Given the description of an element on the screen output the (x, y) to click on. 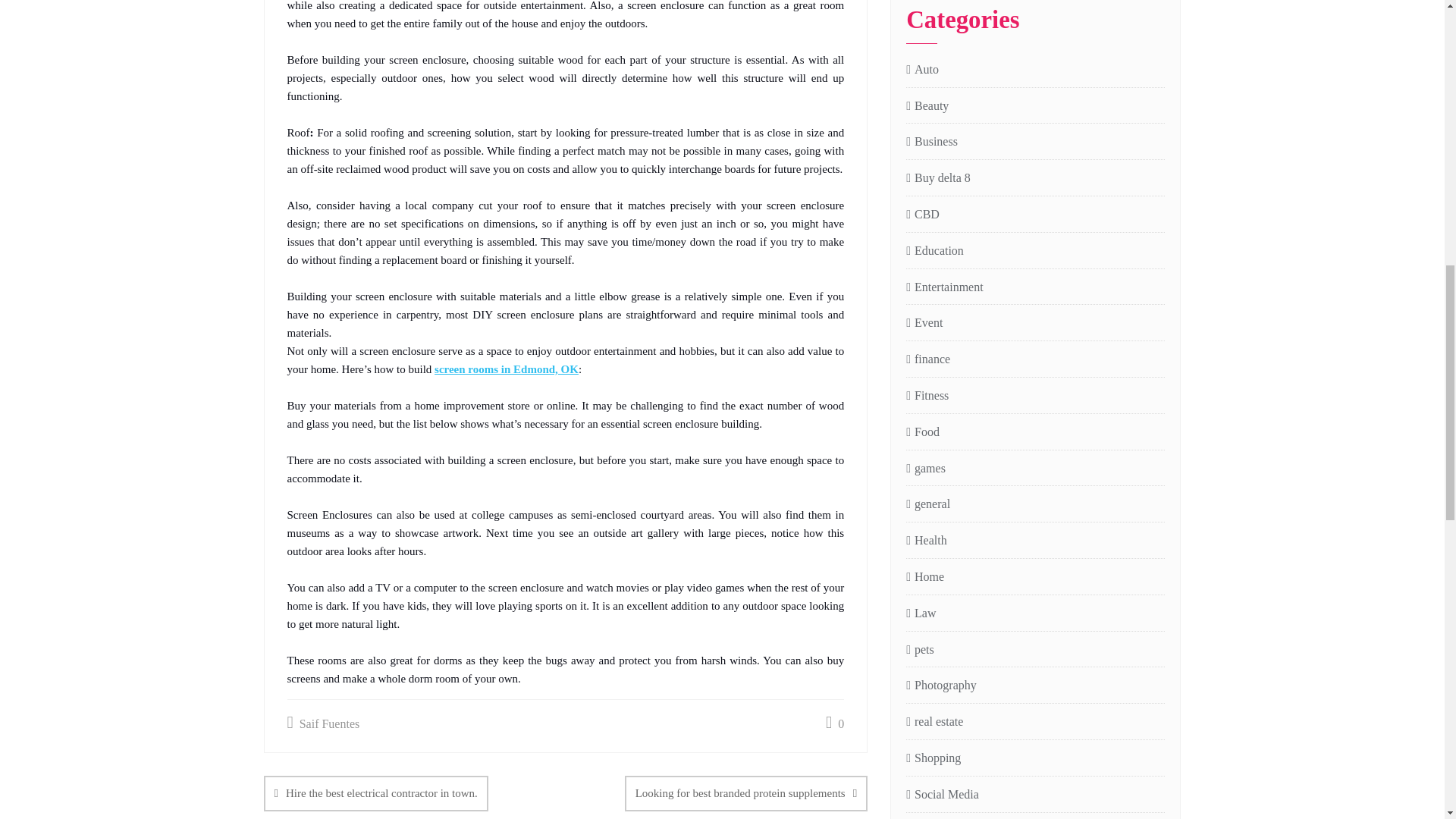
Looking for best branded protein supplements (745, 793)
Law (920, 613)
Buy delta 8 (938, 178)
Entertainment (943, 287)
general (927, 504)
Education (934, 251)
Saif Fuentes (322, 723)
CBD (922, 214)
Food (922, 432)
screen rooms in Edmond, OK (505, 368)
finance (927, 359)
Event (923, 323)
Business (931, 142)
Health (926, 540)
Home (924, 577)
